Given the description of an element on the screen output the (x, y) to click on. 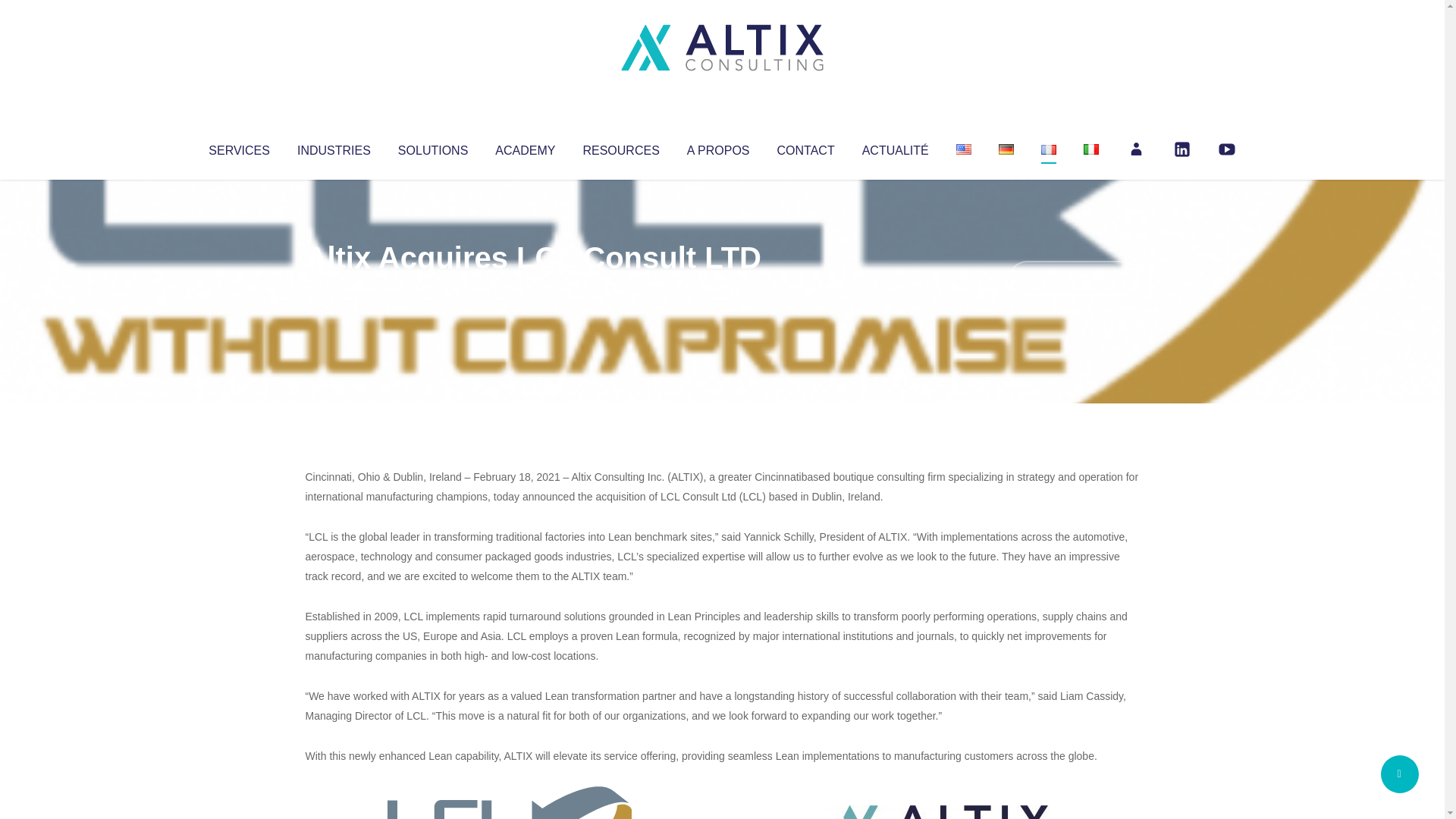
No Comments (1073, 278)
SERVICES (238, 146)
Uncategorized (530, 287)
SOLUTIONS (432, 146)
Articles par Altix (333, 287)
Altix (333, 287)
RESOURCES (620, 146)
ACADEMY (524, 146)
A PROPOS (718, 146)
INDUSTRIES (334, 146)
